Given the description of an element on the screen output the (x, y) to click on. 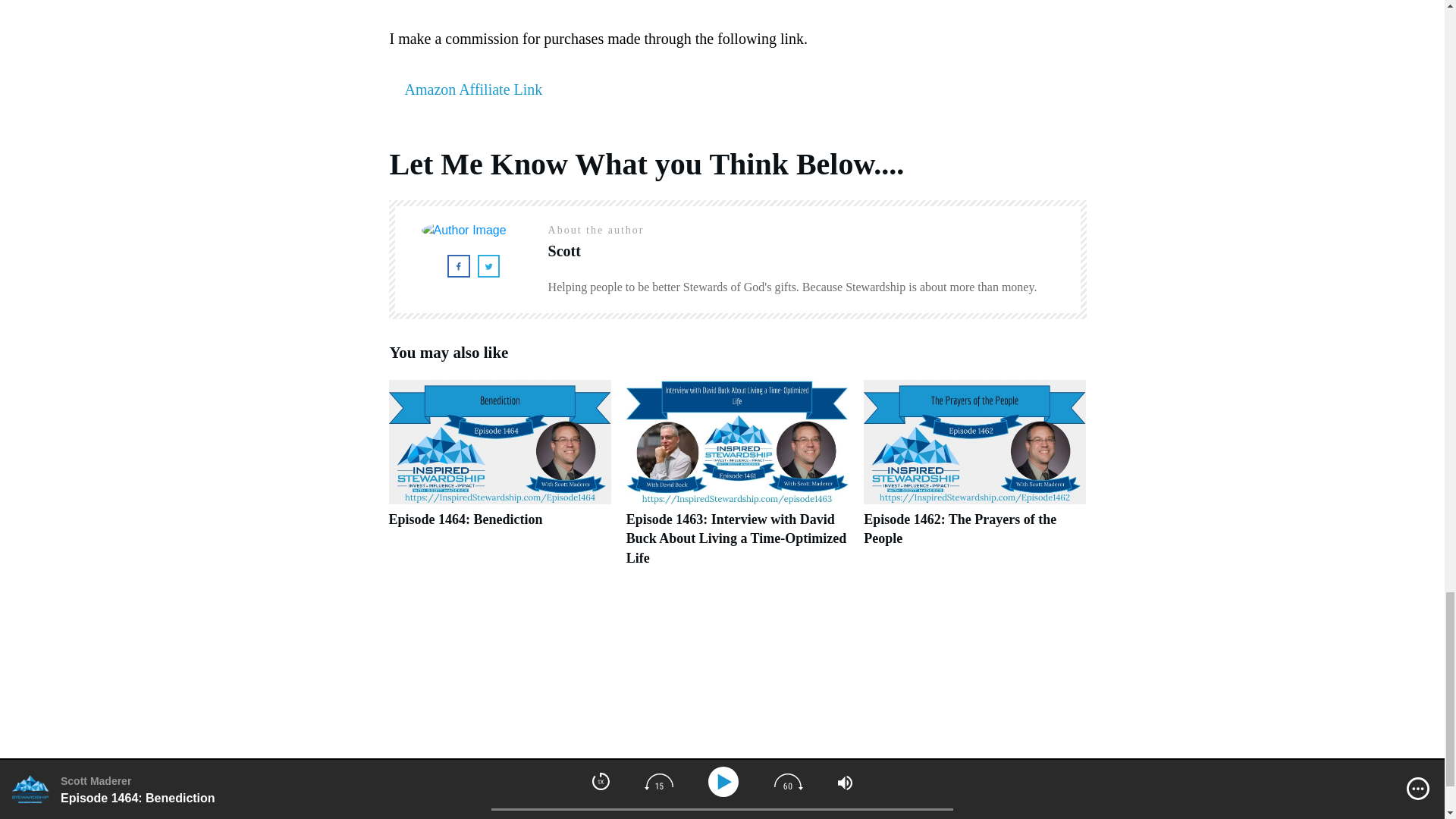
Episode 1462: The Prayers of the People (960, 528)
Episode 1462: The Prayers of the People (974, 481)
Episode 1464: Benediction (499, 481)
Amazon Affiliate Link (473, 89)
Episode 1464: Benediction (464, 519)
Privacy Policy (802, 816)
Episode 1462: The Prayers of the People (960, 528)
